Given the description of an element on the screen output the (x, y) to click on. 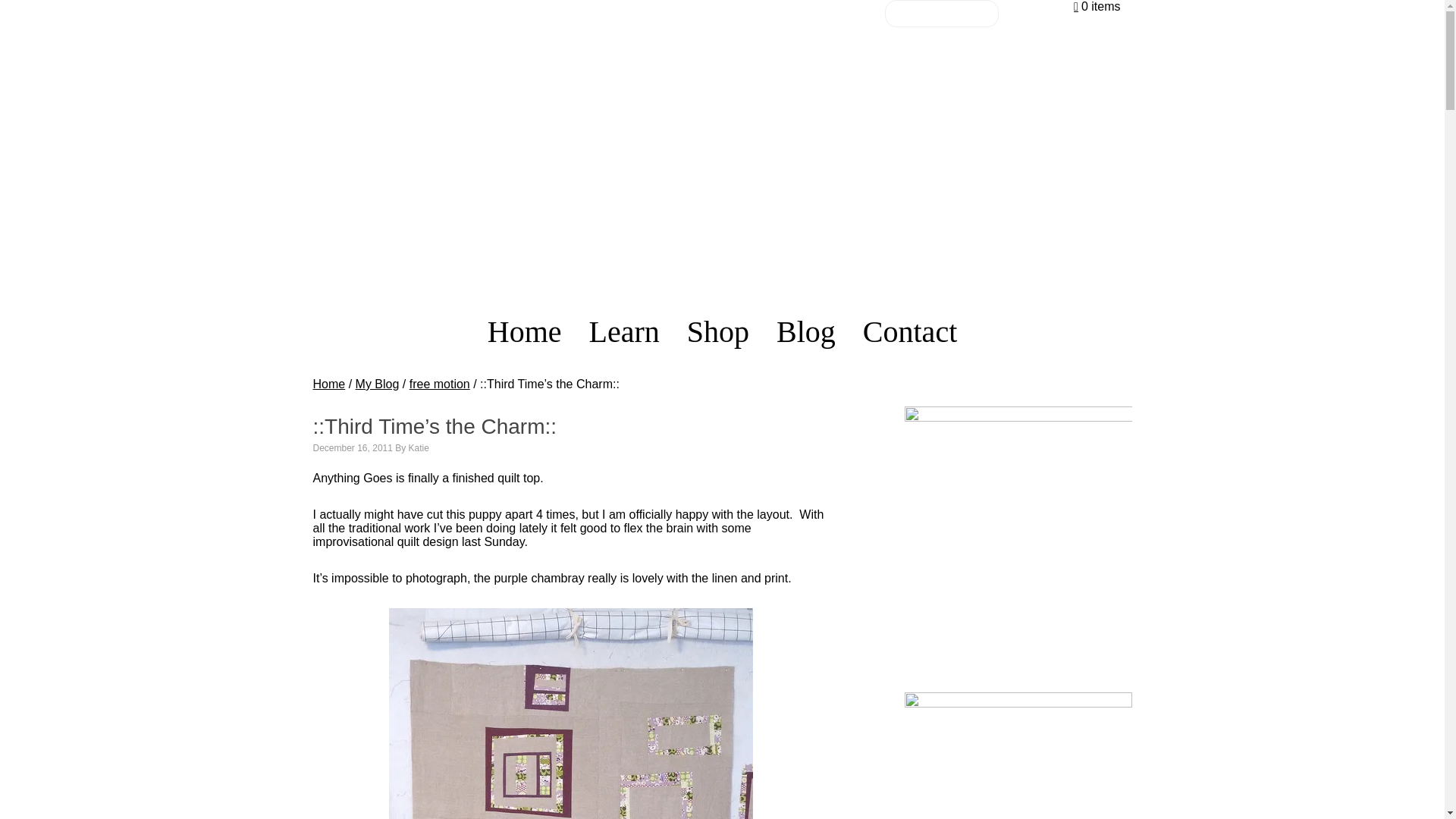
free motion (439, 383)
My Blog (376, 383)
Contact (909, 332)
Learn (623, 332)
Home (329, 383)
Katie (419, 448)
0 items (1096, 6)
Shop (717, 332)
Blog (805, 332)
Start shopping (1096, 6)
